Given the description of an element on the screen output the (x, y) to click on. 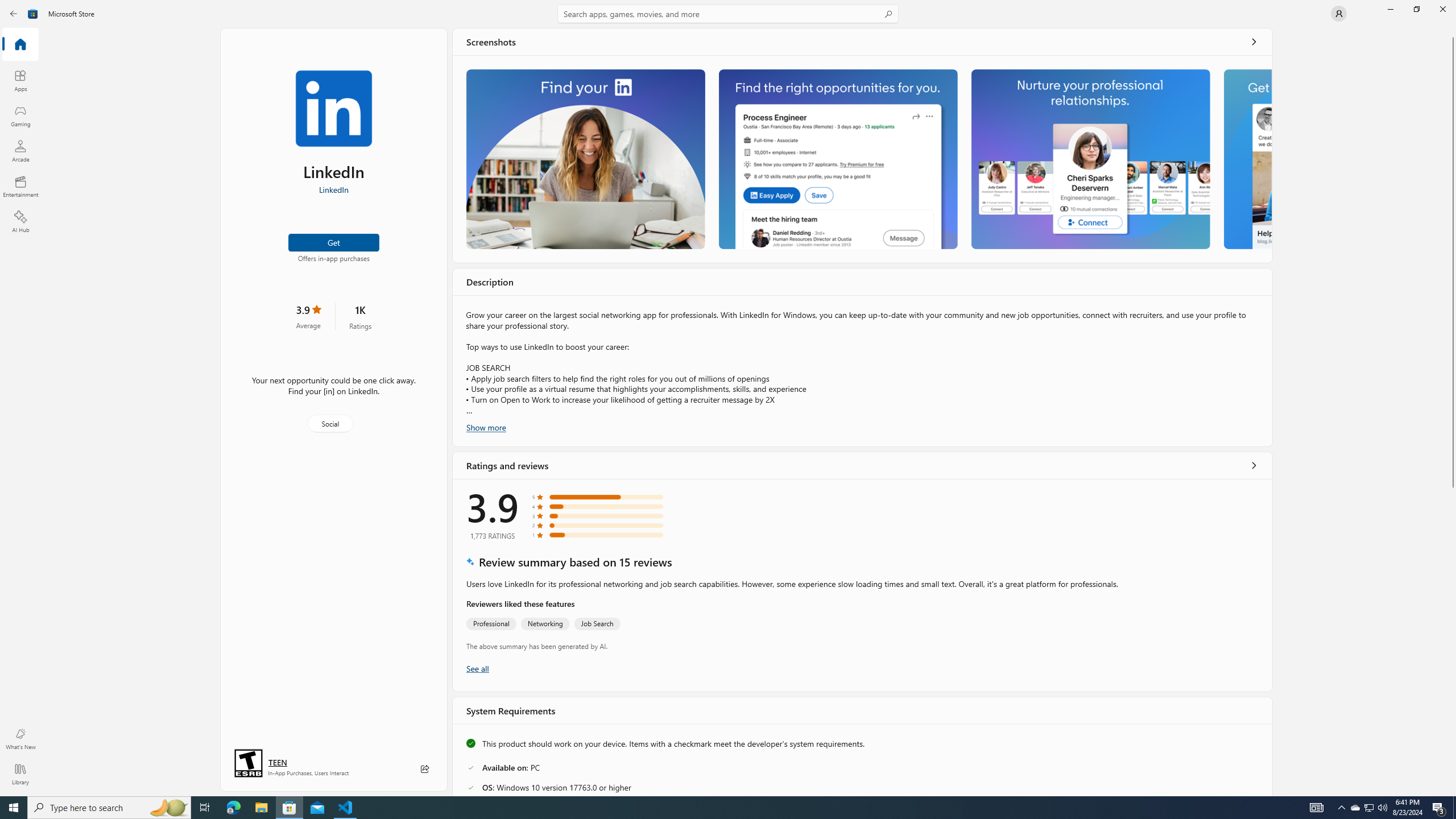
Apps (20, 80)
Screenshot 4 (1247, 158)
Entertainment (20, 185)
Screenshot 3 (1089, 158)
Close Microsoft Store (1442, 9)
What's New (20, 738)
Get (334, 241)
Show all ratings and reviews (477, 667)
Vertical Small Increase (1452, 792)
Gaming (20, 115)
Back (13, 13)
User profile (1338, 13)
Vertical Large Increase (1452, 638)
Age rating: TEEN. Click for more information. (276, 762)
Vertical Small Decrease (1452, 31)
